Given the description of an element on the screen output the (x, y) to click on. 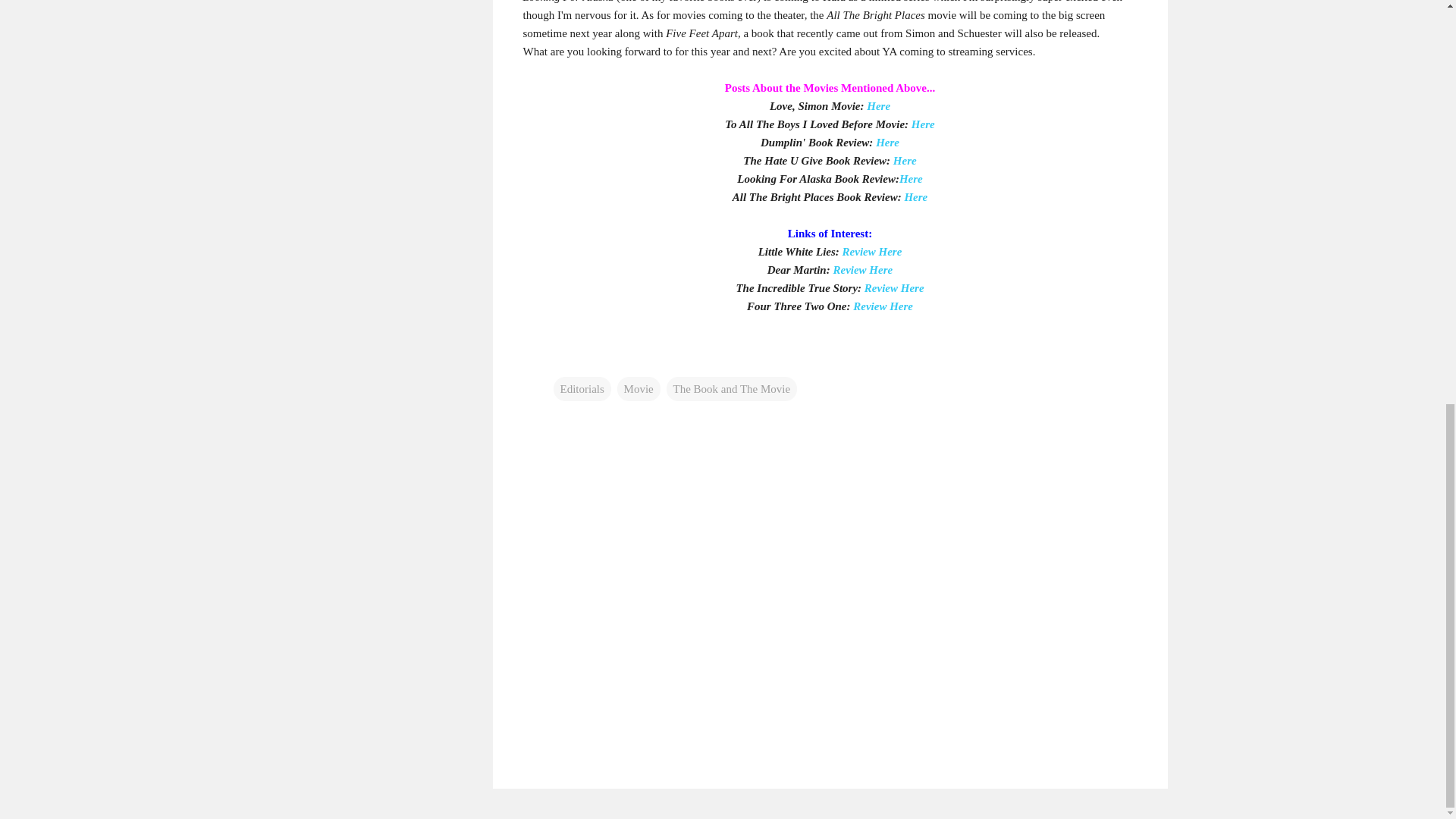
Here (887, 141)
Here (911, 177)
Review Here (894, 287)
Review Here (872, 250)
Here (915, 196)
Editorials (582, 388)
Movie (639, 388)
Email Post (562, 358)
Review Here (862, 268)
Here (922, 123)
